Given the description of an element on the screen output the (x, y) to click on. 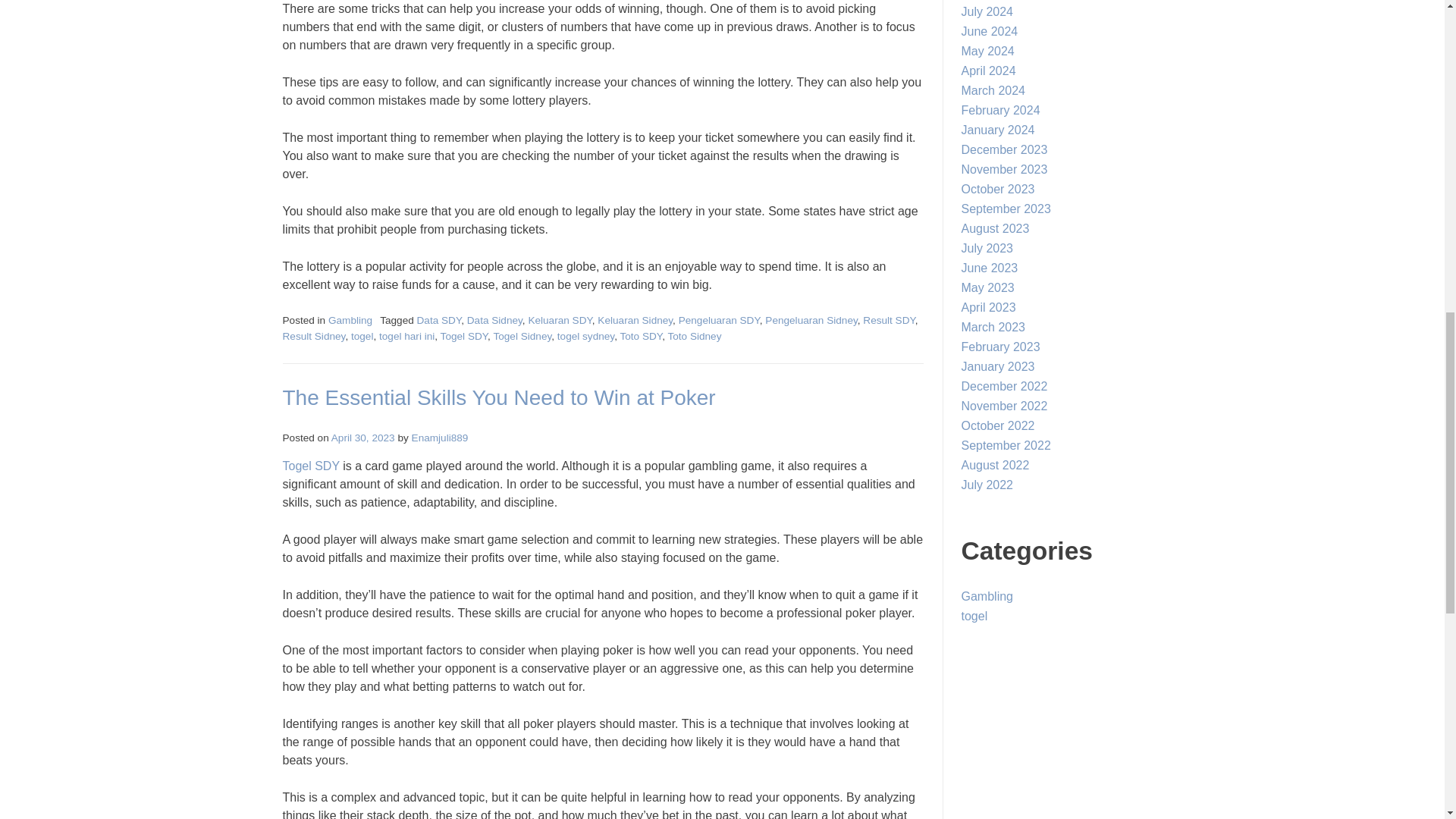
Data SDY (438, 319)
Enamjuli889 (440, 437)
Keluaran Sidney (634, 319)
togel (361, 336)
Keluaran SDY (559, 319)
The Essential Skills You Need to Win at Poker (498, 397)
Toto Sidney (693, 336)
Result Sidney (313, 336)
Togel Sidney (522, 336)
Togel SDY (464, 336)
